Given the description of an element on the screen output the (x, y) to click on. 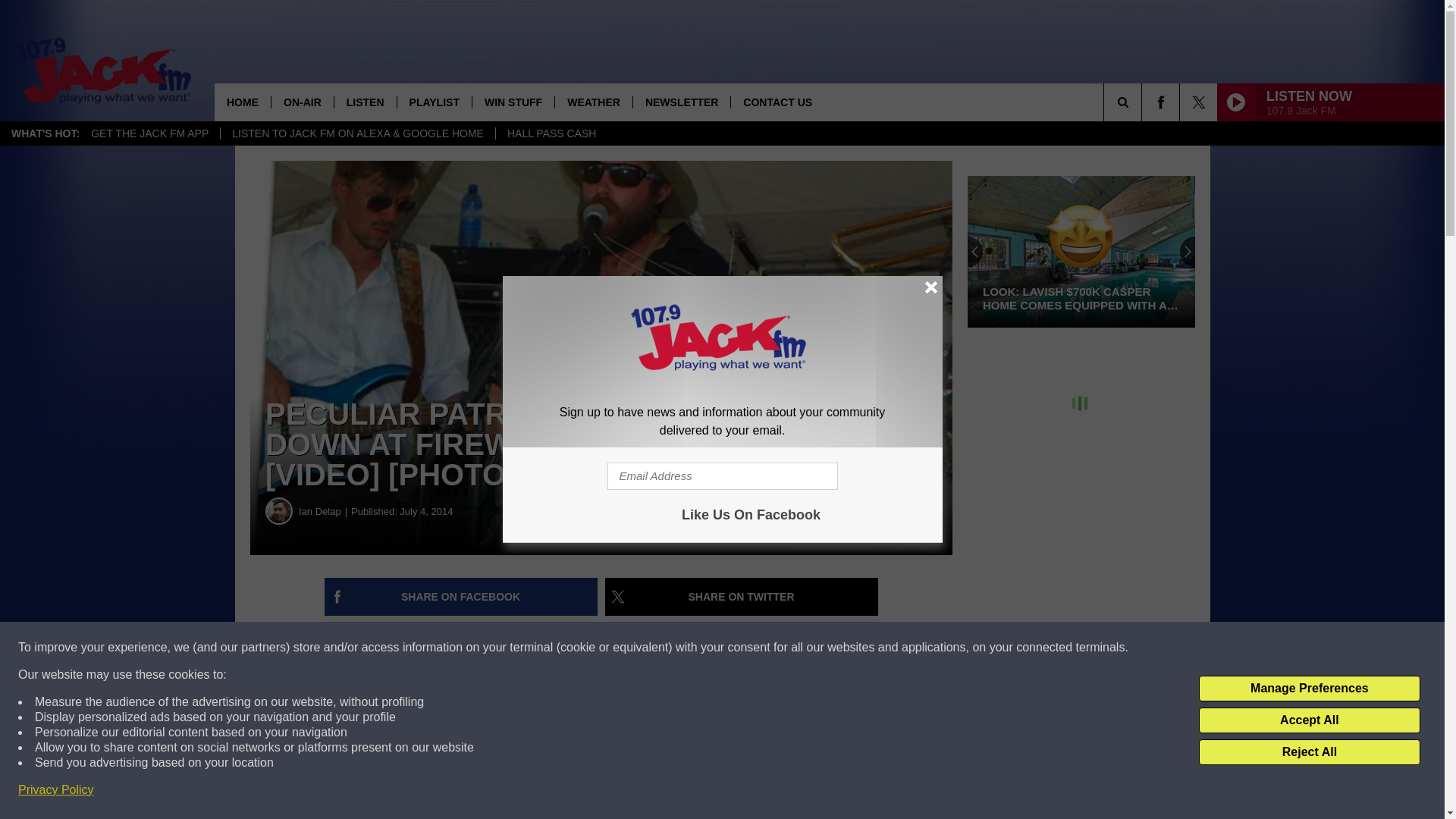
WIN STUFF (512, 102)
Privacy Policy (55, 789)
Manage Preferences (1309, 688)
Share on Facebook (460, 596)
LISTEN (364, 102)
NEWSLETTER (680, 102)
Reject All (1309, 751)
WEATHER (592, 102)
SEARCH (1144, 102)
HOME (242, 102)
GET THE JACK FM APP (149, 133)
Accept All (1309, 720)
ON-AIR (301, 102)
HALL PASS CASH (551, 133)
Share on Twitter (741, 596)
